Given the description of an element on the screen output the (x, y) to click on. 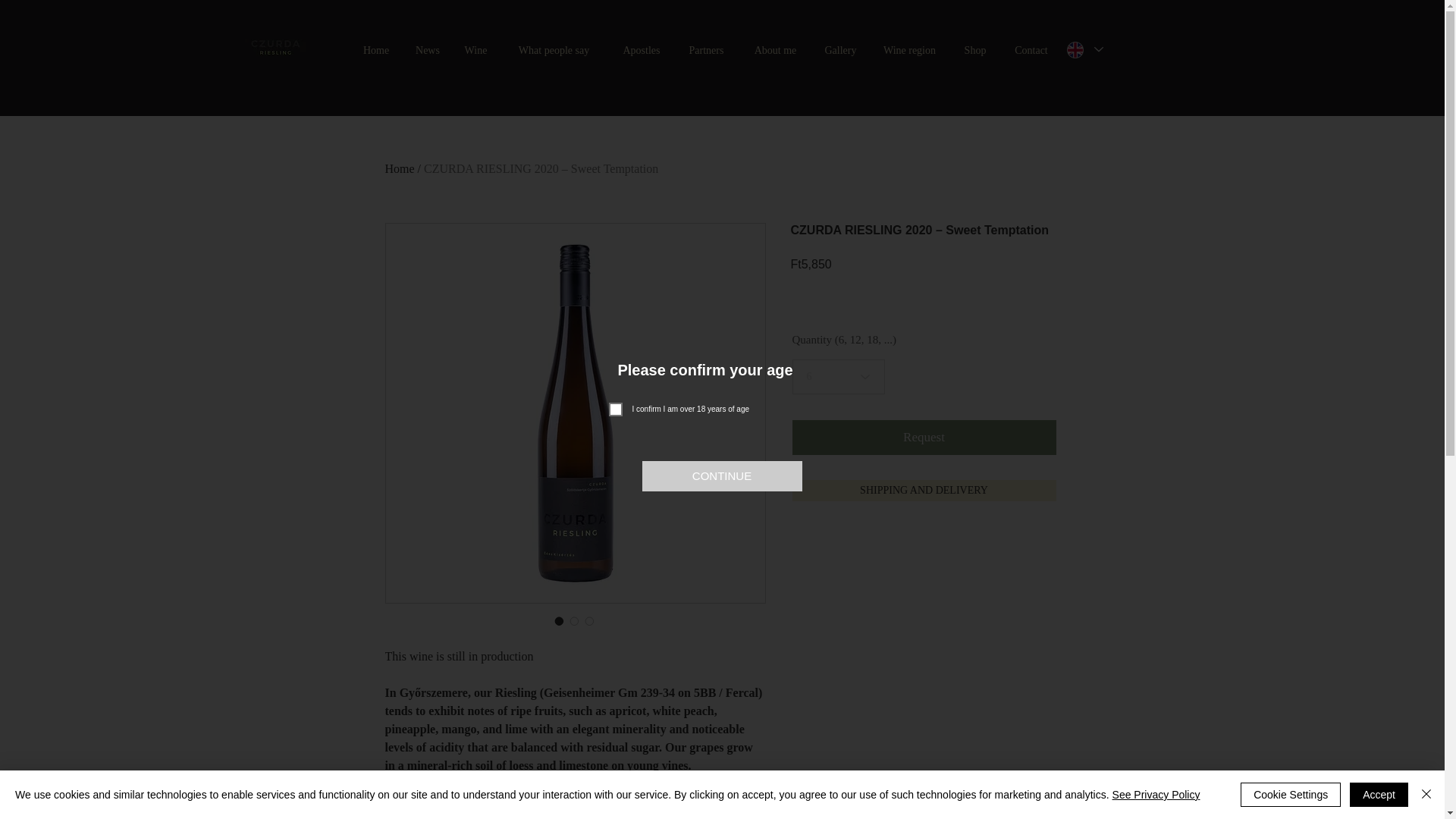
Wine region (909, 50)
SHIPPING AND DELIVERY (923, 490)
Gallery (840, 50)
Wine (475, 50)
News (427, 50)
Contact (1030, 50)
Partners (706, 50)
Accept (1378, 794)
About me (775, 50)
See Privacy Policy (1155, 794)
Home (376, 50)
Shop (975, 50)
Request (923, 437)
Home (399, 168)
Cookie Settings (1290, 794)
